Given the description of an element on the screen output the (x, y) to click on. 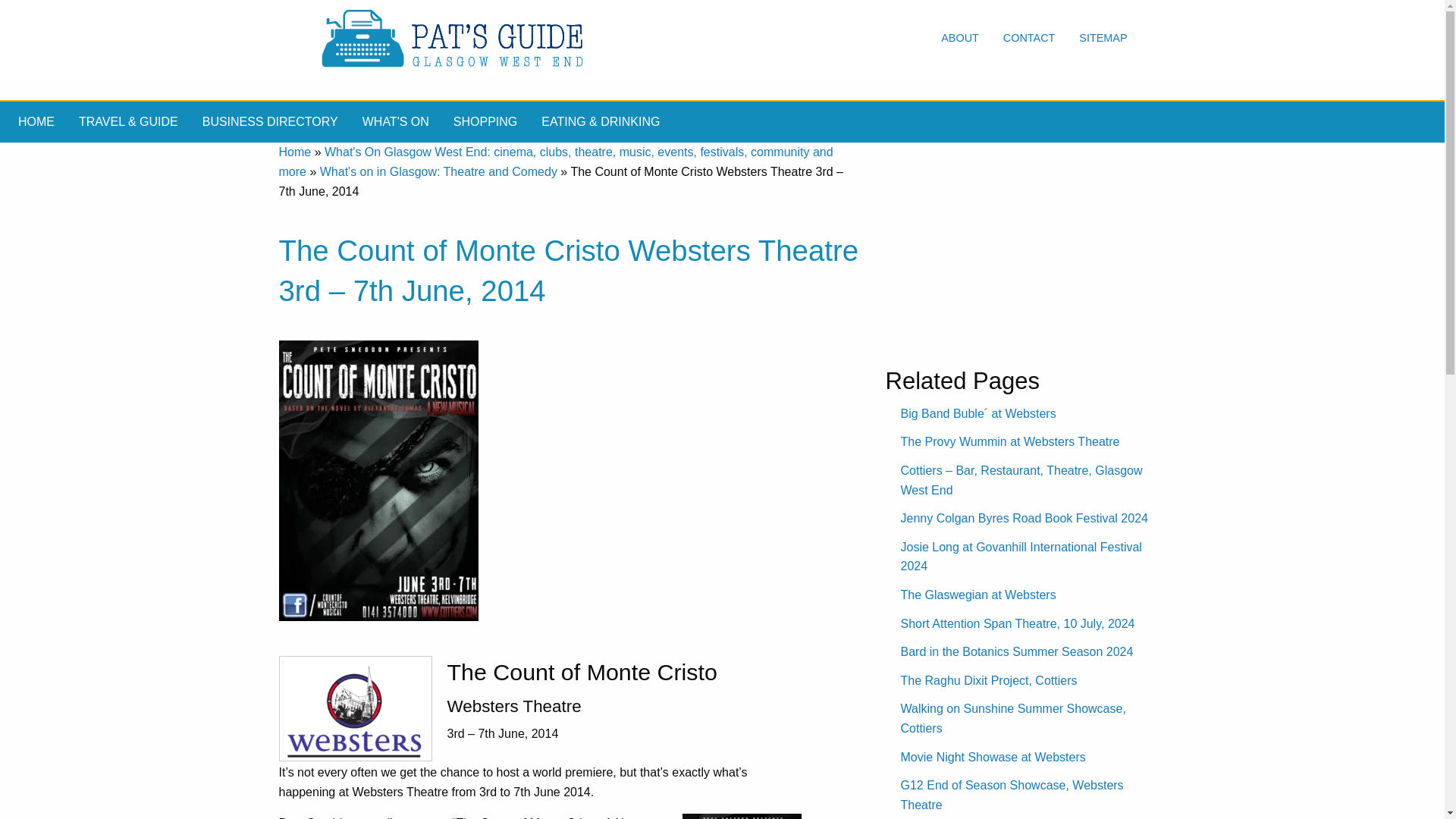
The Provy Wummin at Websters Theatre (1010, 440)
Home (295, 151)
CONTACT (1029, 38)
SHOPPING (485, 121)
Jenny Colgan Byres Road Book Festival 2024 (1024, 517)
Short Attention Span Theatre, 10 July, 2024 (1018, 623)
WHAT'S ON (395, 121)
HOME (35, 121)
The Glaswegian at Websters (979, 594)
